Given the description of an element on the screen output the (x, y) to click on. 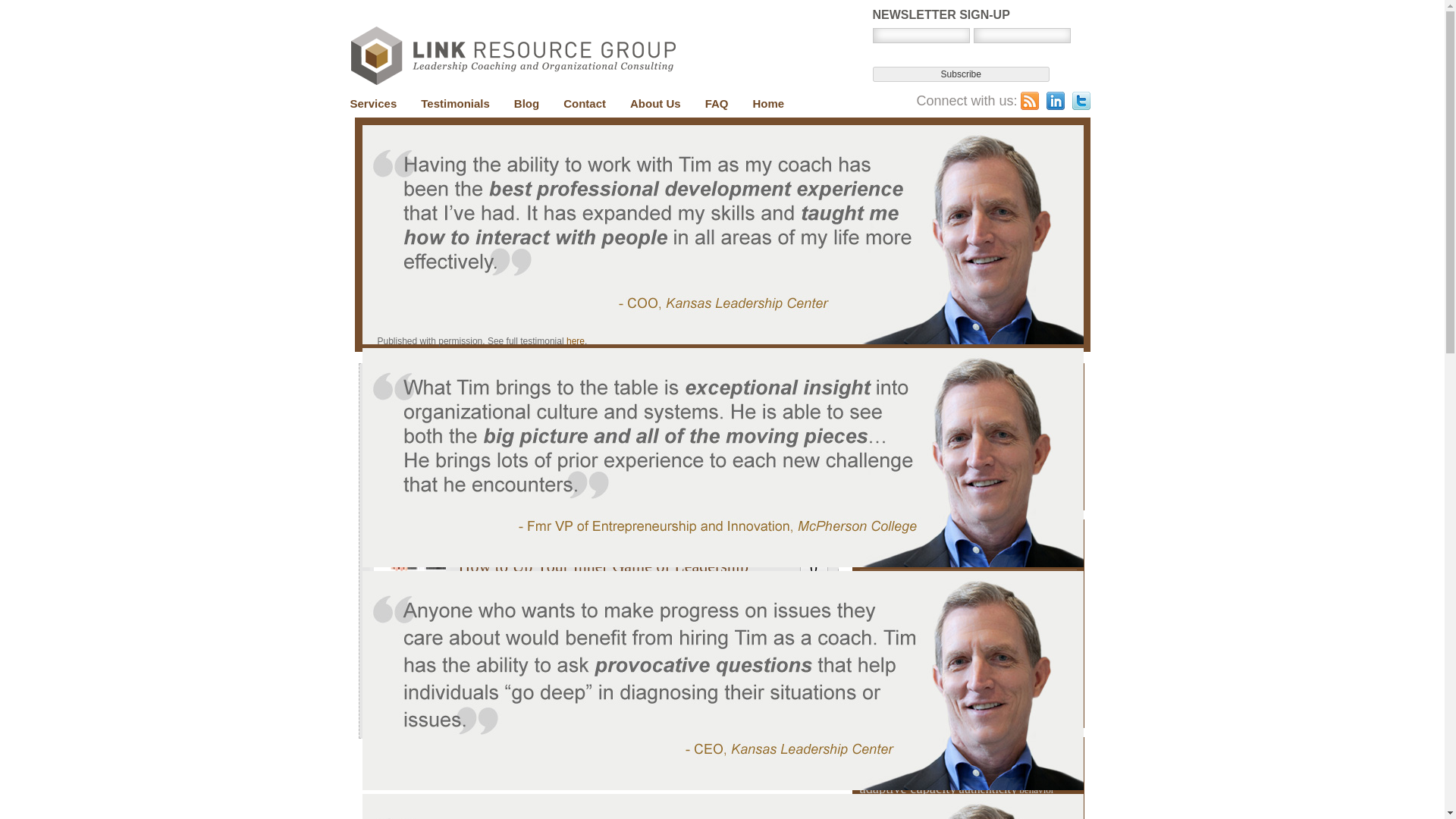
Permalink to Patience for Continued Growth (562, 461)
About Us (655, 101)
Testimonials (455, 101)
Patience for Continued Growth (562, 461)
executive coach (687, 621)
Blog (526, 101)
Contact (584, 101)
How to Up Your Inner Game of Leadership (603, 565)
here (575, 340)
Home (768, 101)
Permalink to How to Up Your Inner Game of Leadership (603, 565)
Subscribe (960, 73)
0 (812, 566)
0 (812, 463)
READ MORE (498, 662)
